Given the description of an element on the screen output the (x, y) to click on. 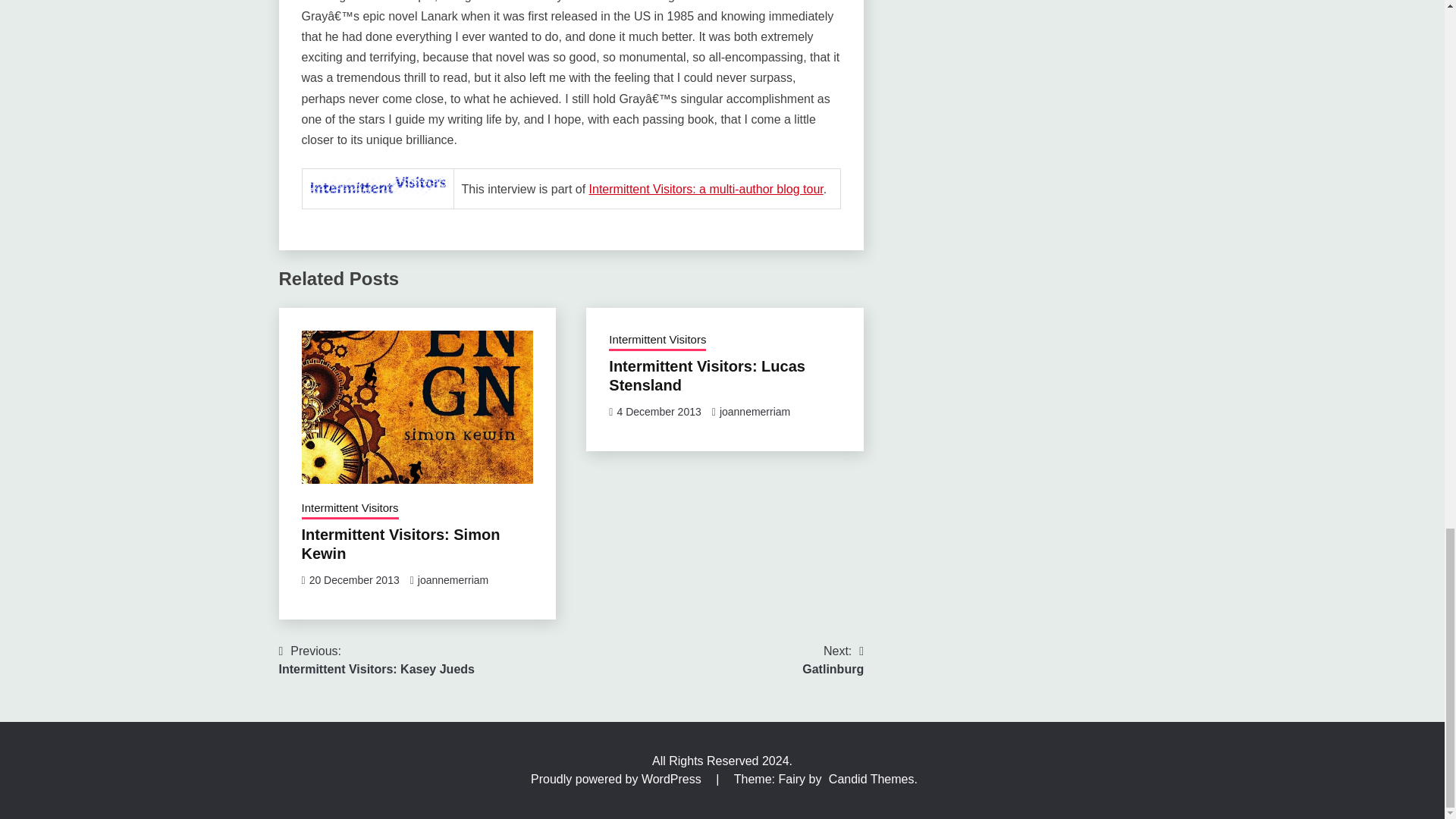
Intermittent Visitors: Simon Kewin (400, 543)
IntermittentVisitors (376, 185)
Intermittent Visitors (657, 341)
Intermittent Visitors: Lucas Stensland (706, 375)
joannemerriam (452, 580)
Intermittent Visitors (349, 509)
20 December 2013 (353, 580)
Intermittent Visitors: a multi-author blog tour (706, 188)
